Given the description of an element on the screen output the (x, y) to click on. 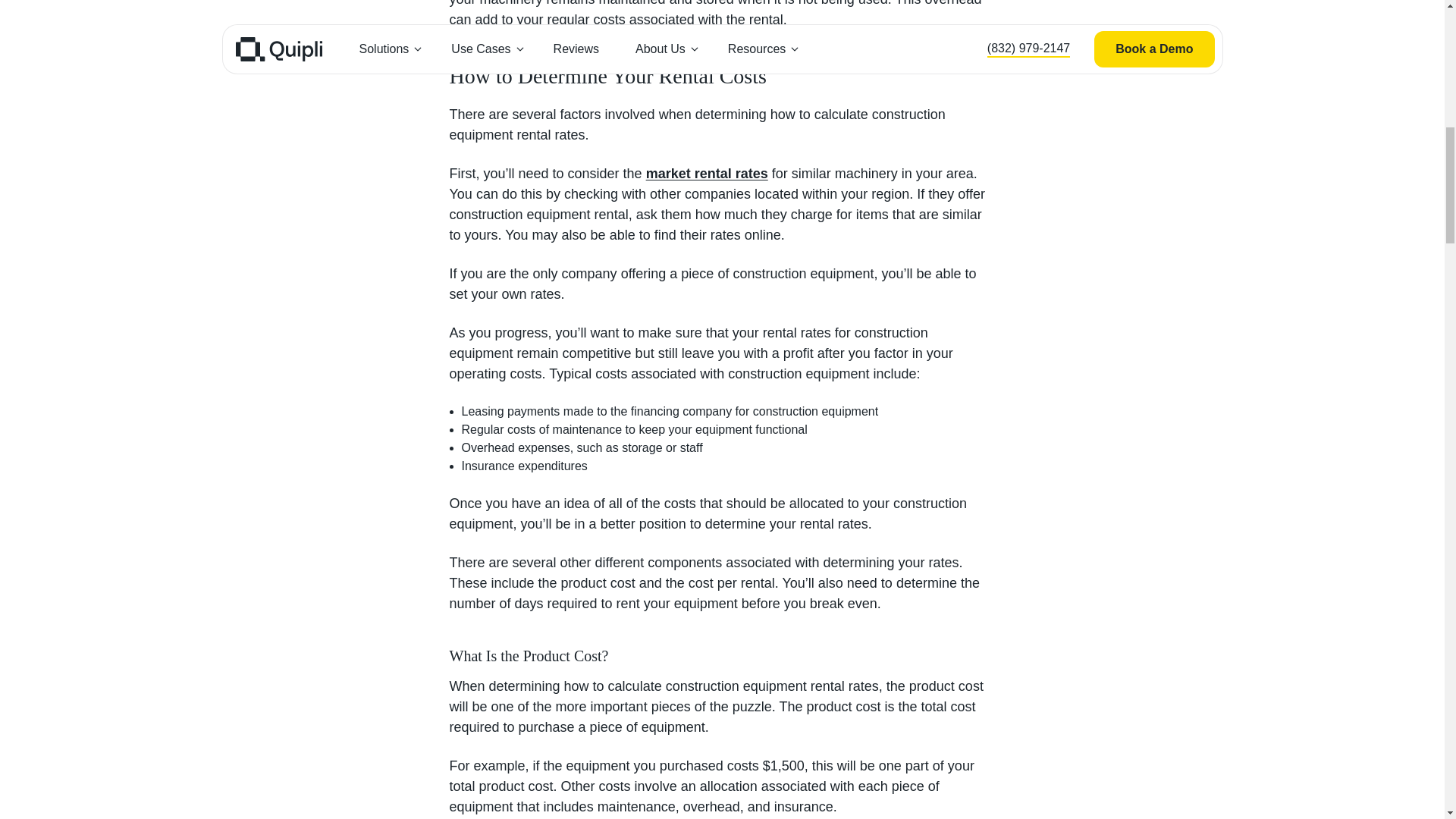
market rental rates (707, 173)
